Given the description of an element on the screen output the (x, y) to click on. 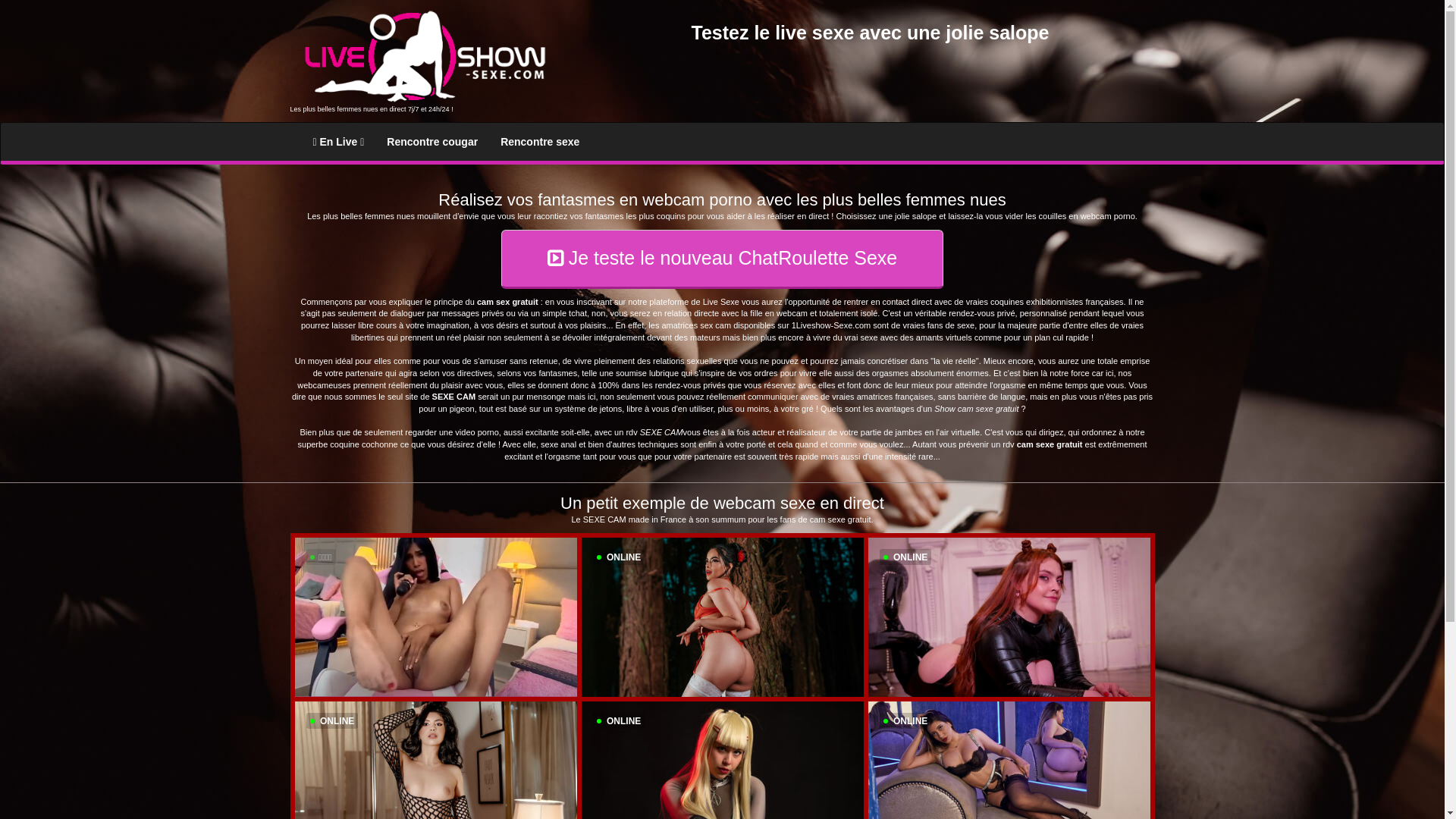
Je teste le nouveau ChatRoulette Sexe Element type: text (722, 258)
Rencontre cougar Element type: text (432, 141)
Rencontre sexe Element type: text (539, 141)
